Given the description of an element on the screen output the (x, y) to click on. 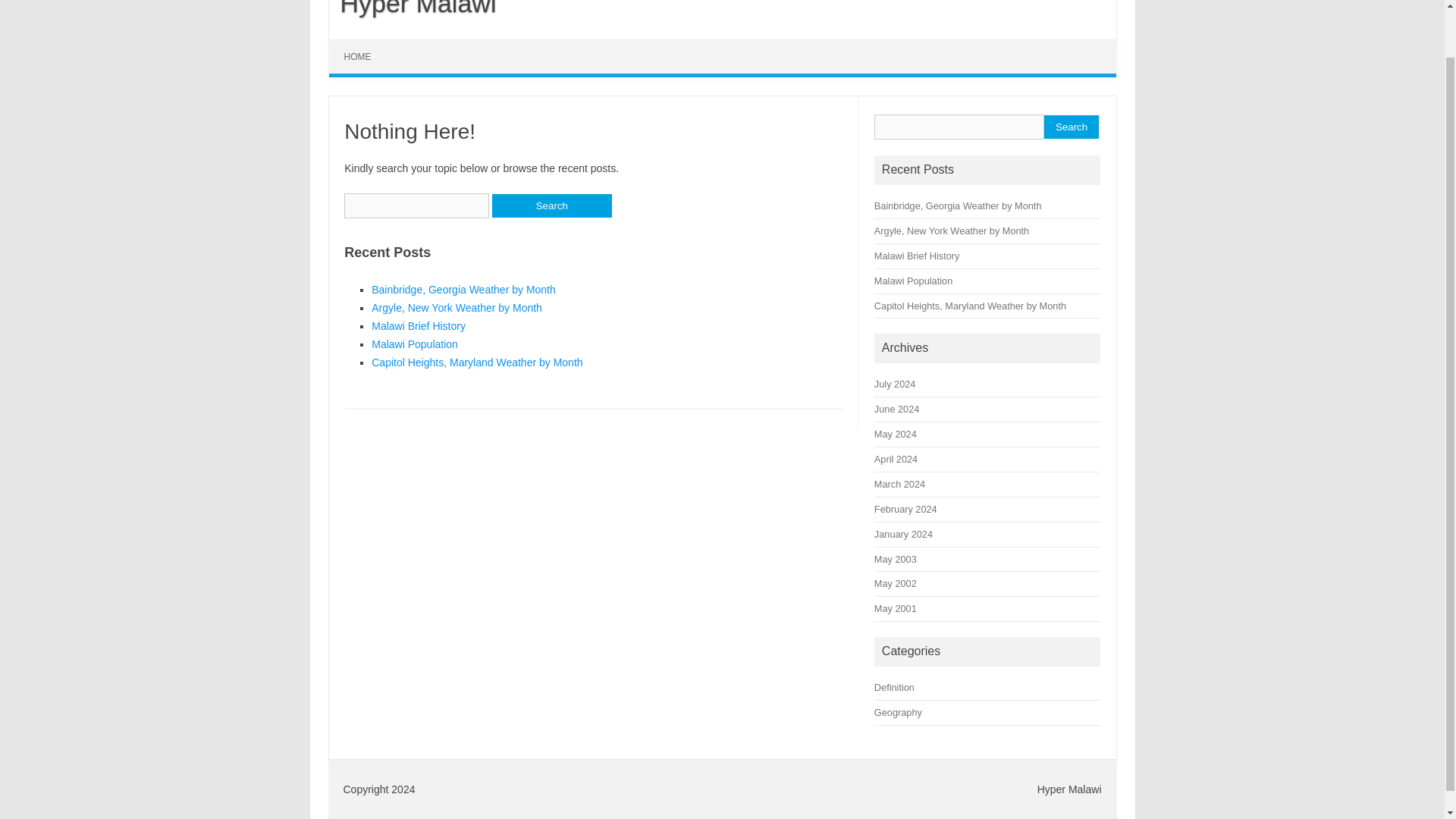
July 2024 (895, 383)
Malawi Brief History (917, 255)
May 2024 (896, 433)
Skip to content (363, 44)
Argyle, New York Weather by Month (456, 307)
Search (551, 205)
Skip to content (363, 44)
Malawi Brief History (418, 326)
Argyle, New York Weather by Month (952, 230)
February 2024 (906, 509)
Malawi Population (913, 280)
June 2024 (896, 408)
Search (1070, 126)
Hyper Malawi (412, 8)
Malawi Population (414, 344)
